Given the description of an element on the screen output the (x, y) to click on. 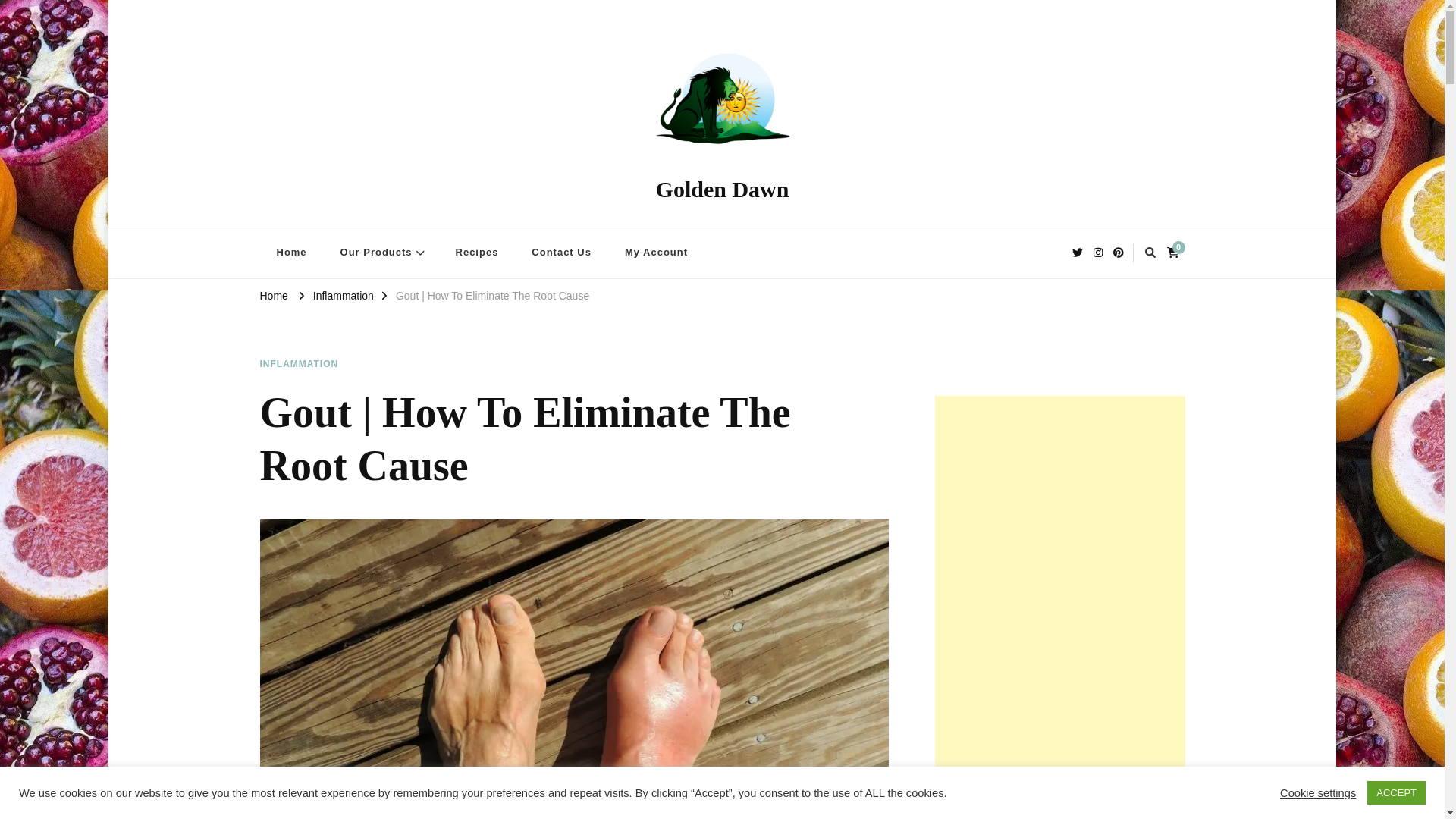
Search (947, 254)
View your shopping cart (1176, 249)
Home (272, 296)
INFLAMMATION (298, 364)
Home (291, 252)
My Account (656, 252)
Inflammation (343, 296)
0 (1176, 249)
Golden Dawn (722, 188)
Recipes (477, 252)
Contact Us (561, 252)
Our Products (381, 252)
